Given the description of an element on the screen output the (x, y) to click on. 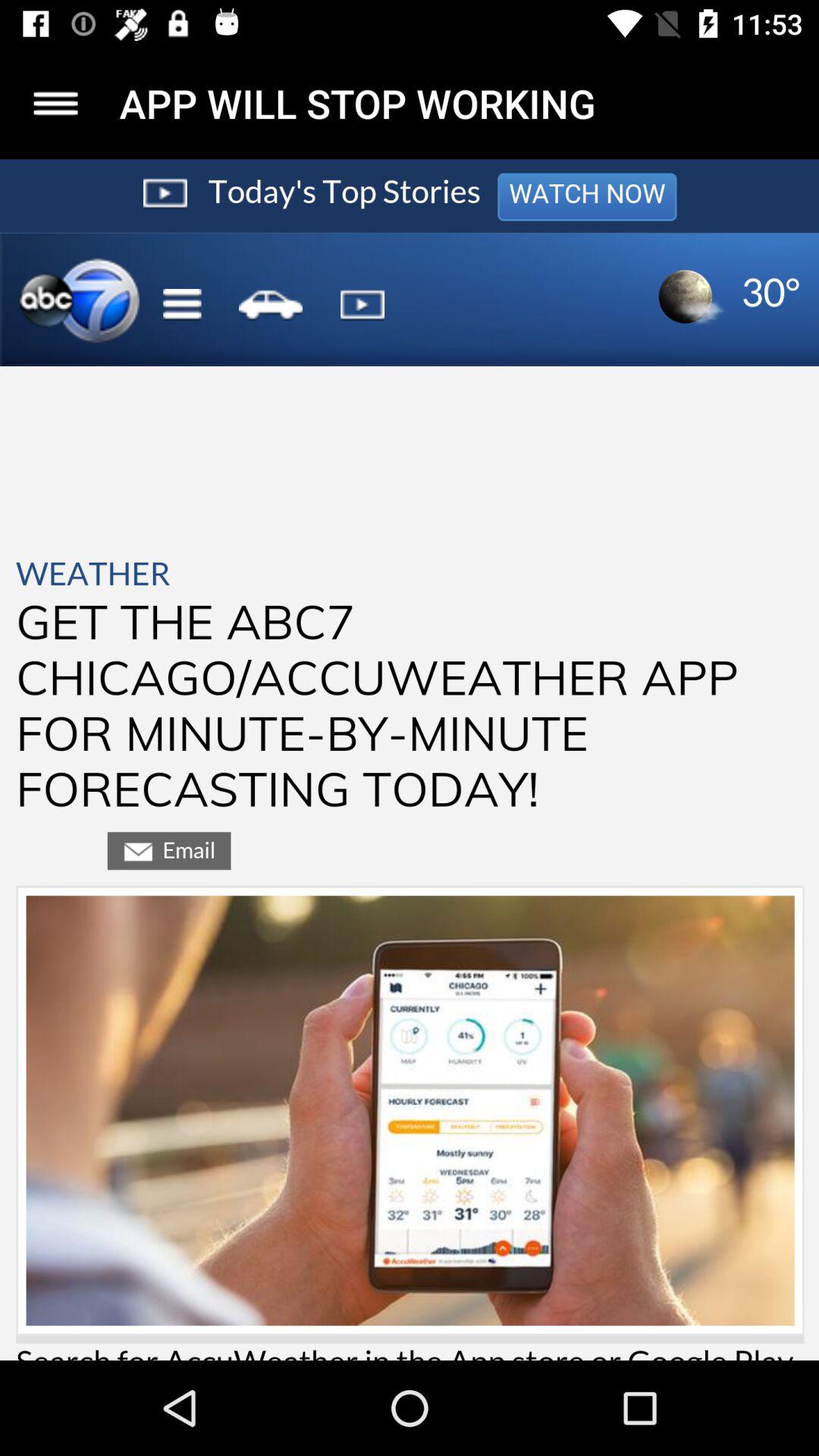
this is button for more options (55, 103)
